Given the description of an element on the screen output the (x, y) to click on. 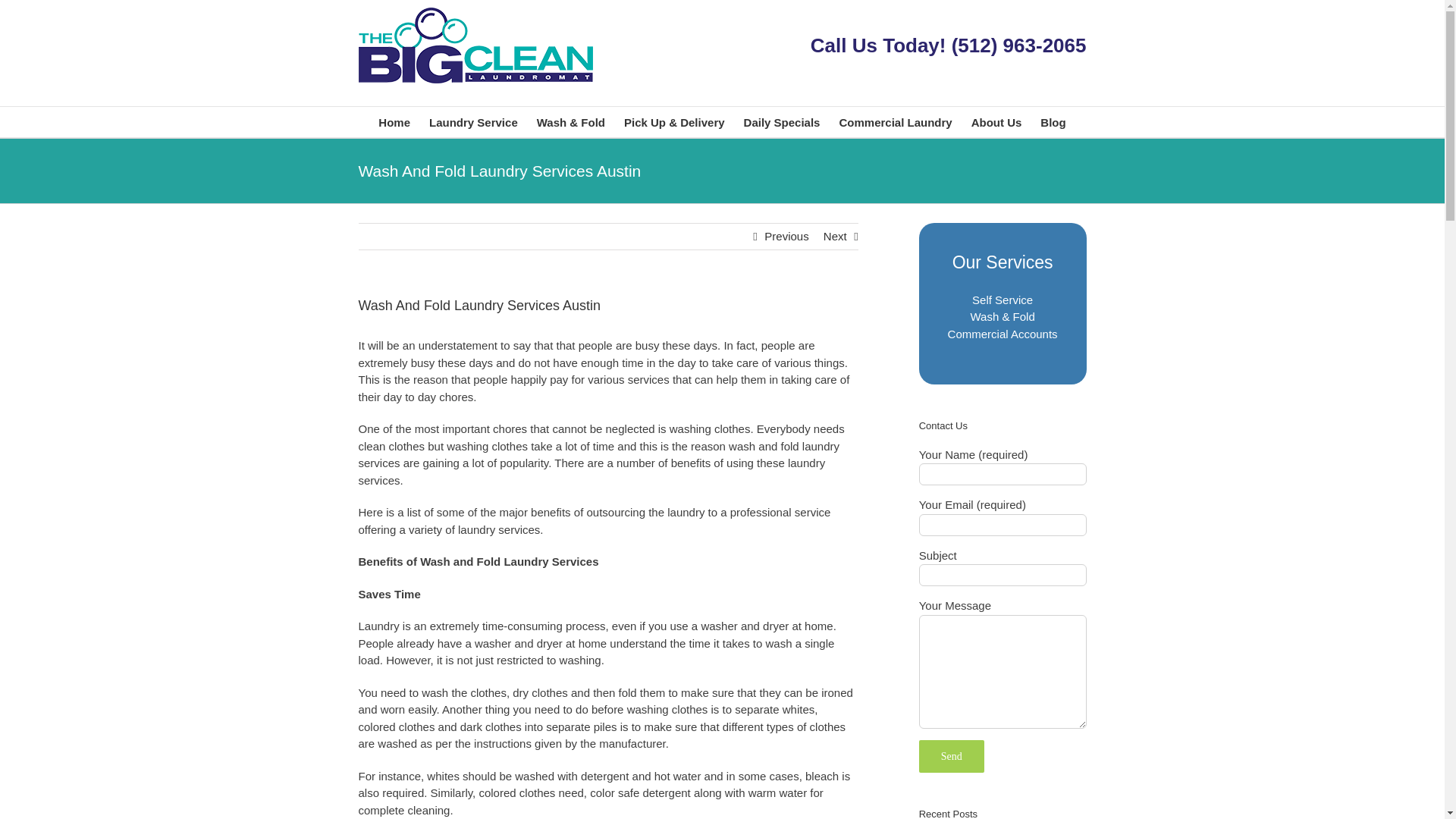
Daily Specials (782, 122)
About Us (996, 122)
Commercial Laundry (895, 122)
Previous (786, 236)
Send (951, 756)
Next (835, 236)
Laundry Service (473, 122)
Home (394, 122)
